Given the description of an element on the screen output the (x, y) to click on. 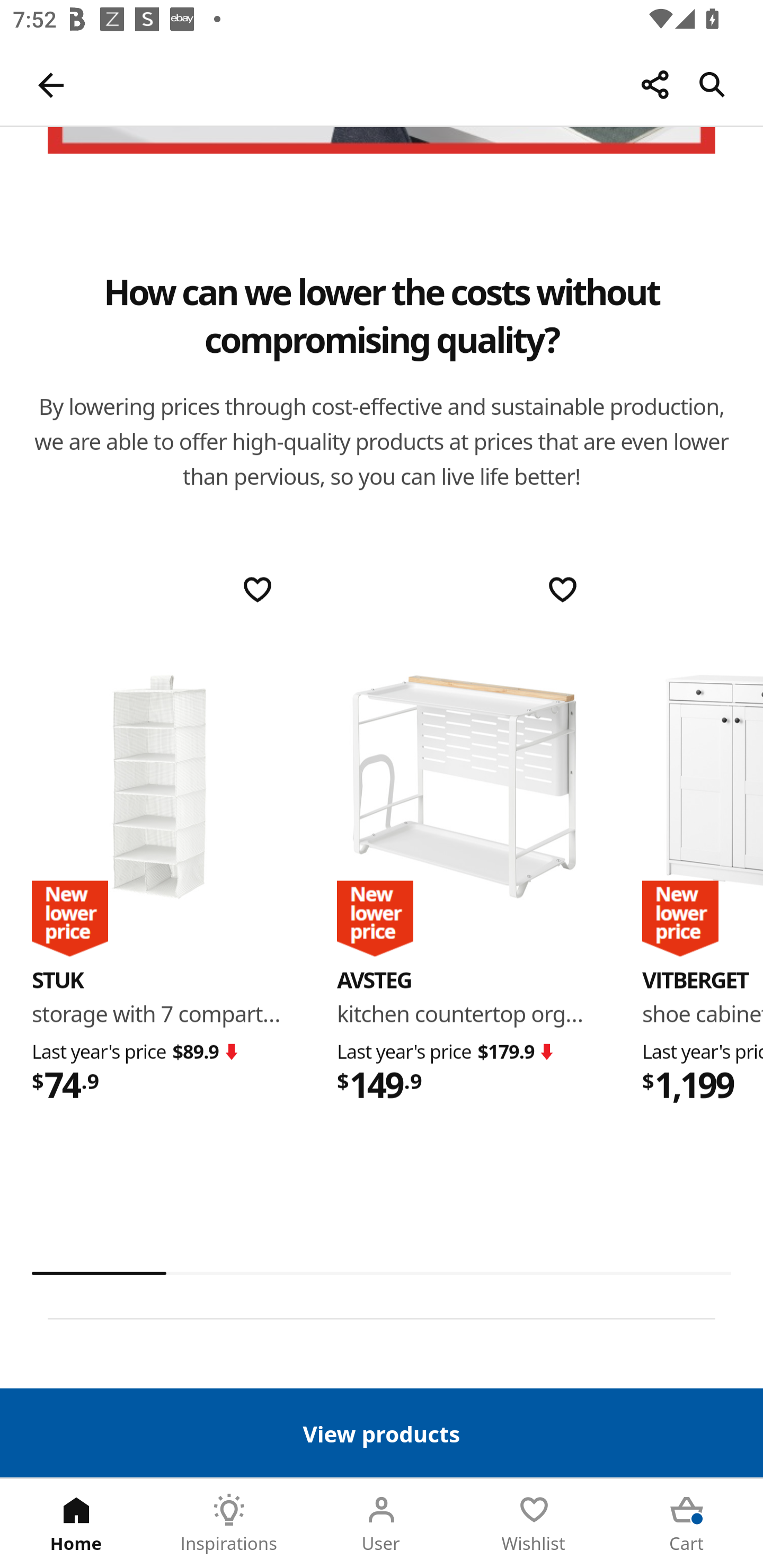
STUK (159, 787)
AVSTEG (464, 787)
STUK (57, 979)
AVSTEG (374, 979)
VITBERGET (695, 979)
0.0 (381, 1273)
View products (381, 1432)
Home
Tab 1 of 5 (76, 1522)
Inspirations
Tab 2 of 5 (228, 1522)
User
Tab 3 of 5 (381, 1522)
Wishlist
Tab 4 of 5 (533, 1522)
Cart
Tab 5 of 5 (686, 1522)
